Given the description of an element on the screen output the (x, y) to click on. 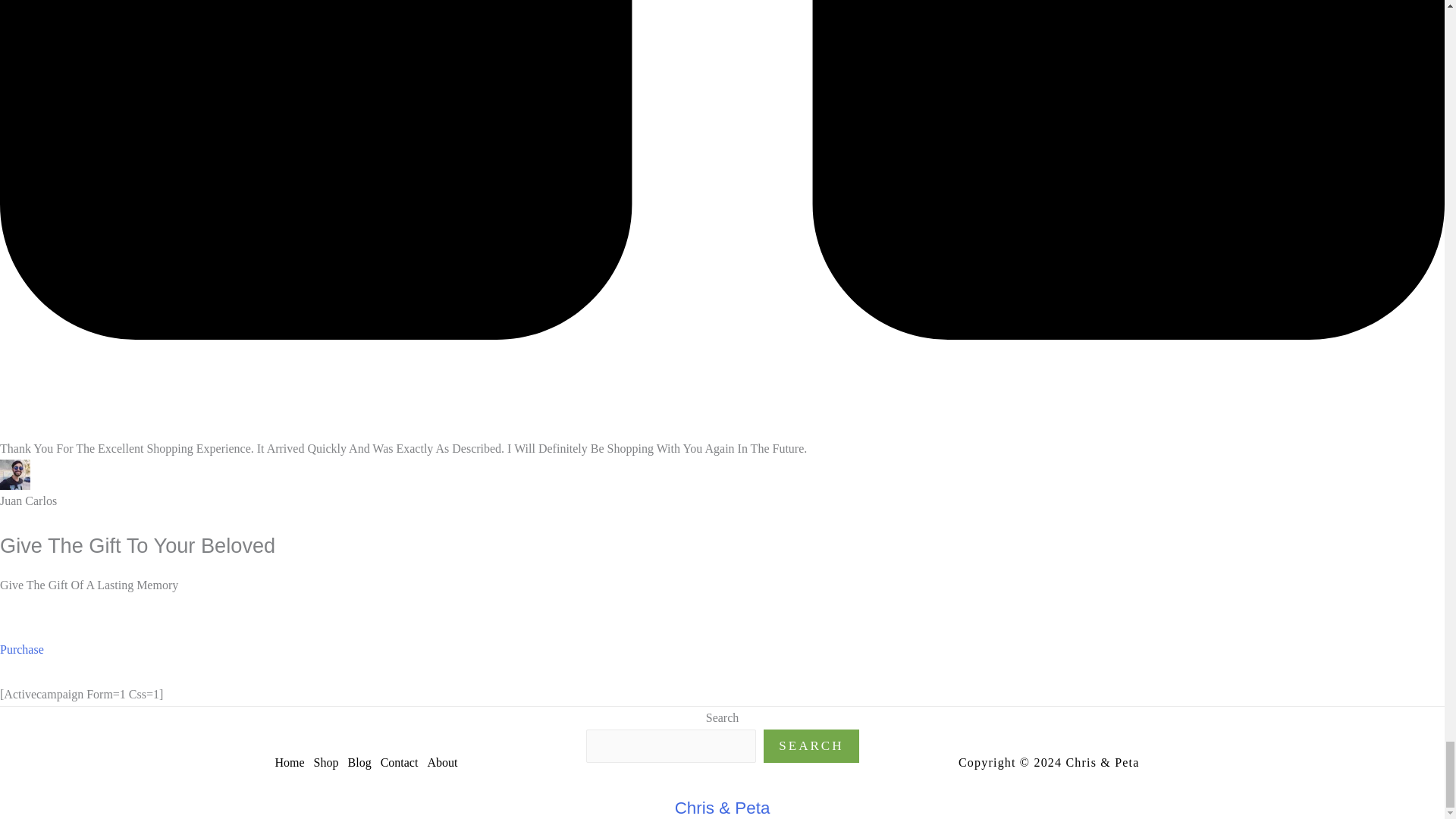
Blog (363, 762)
Purchase (21, 660)
Contact (404, 762)
About (445, 762)
Shop (330, 762)
SEARCH (810, 745)
Home (294, 762)
